Given the description of an element on the screen output the (x, y) to click on. 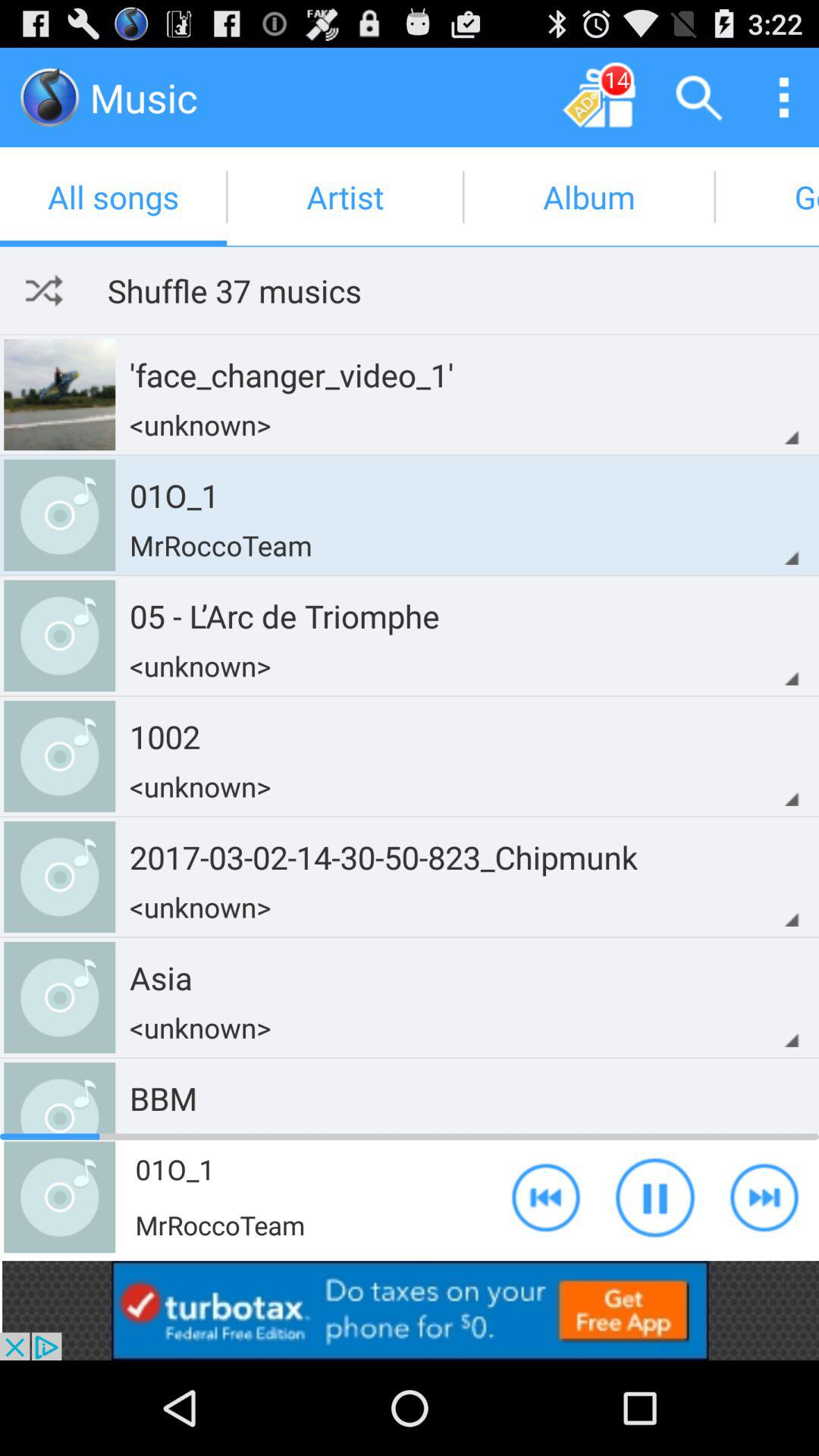
the button used to play and stop (654, 1196)
